Given the description of an element on the screen output the (x, y) to click on. 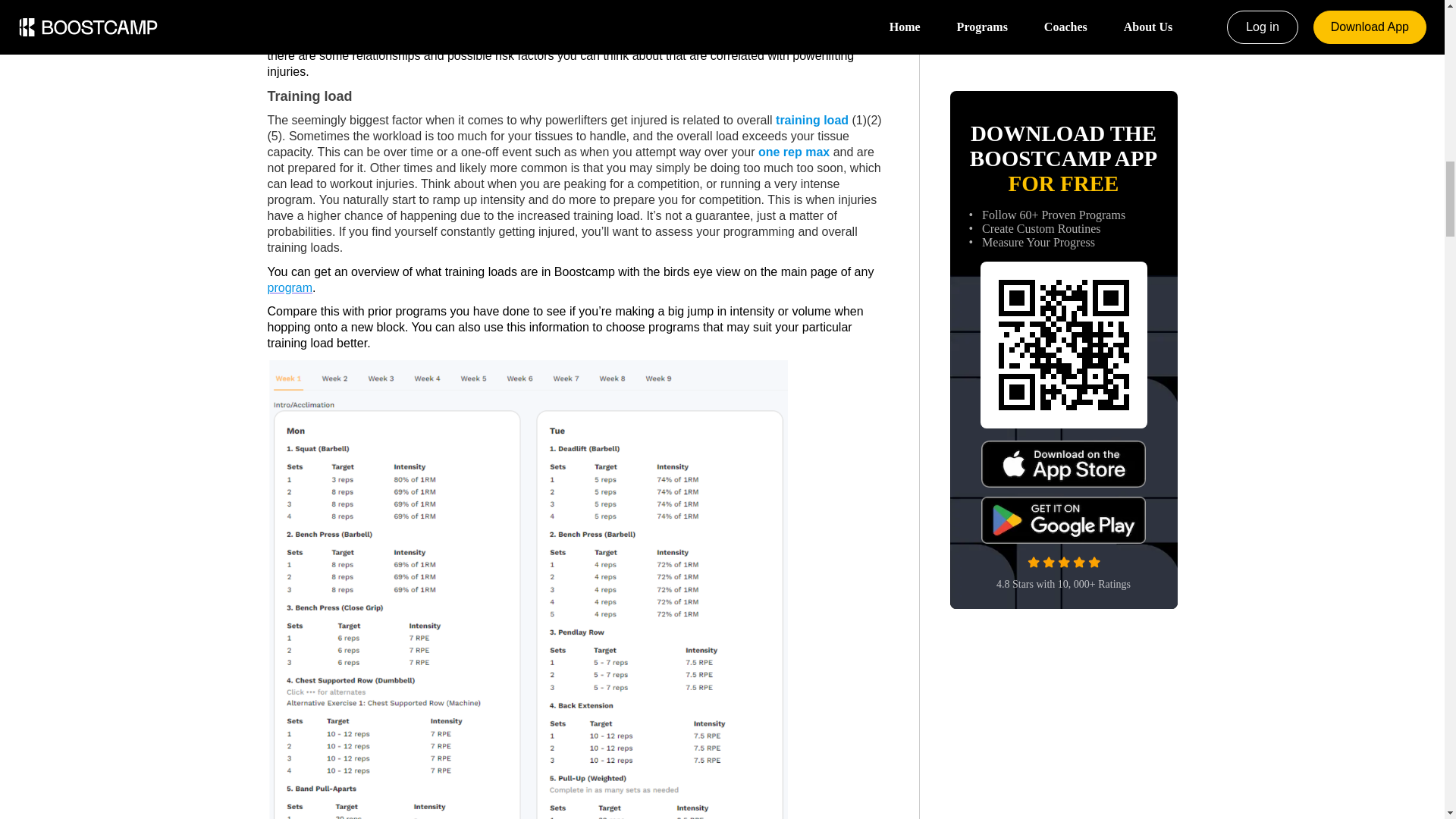
training load (812, 120)
one rep max (793, 152)
program (289, 287)
